Given the description of an element on the screen output the (x, y) to click on. 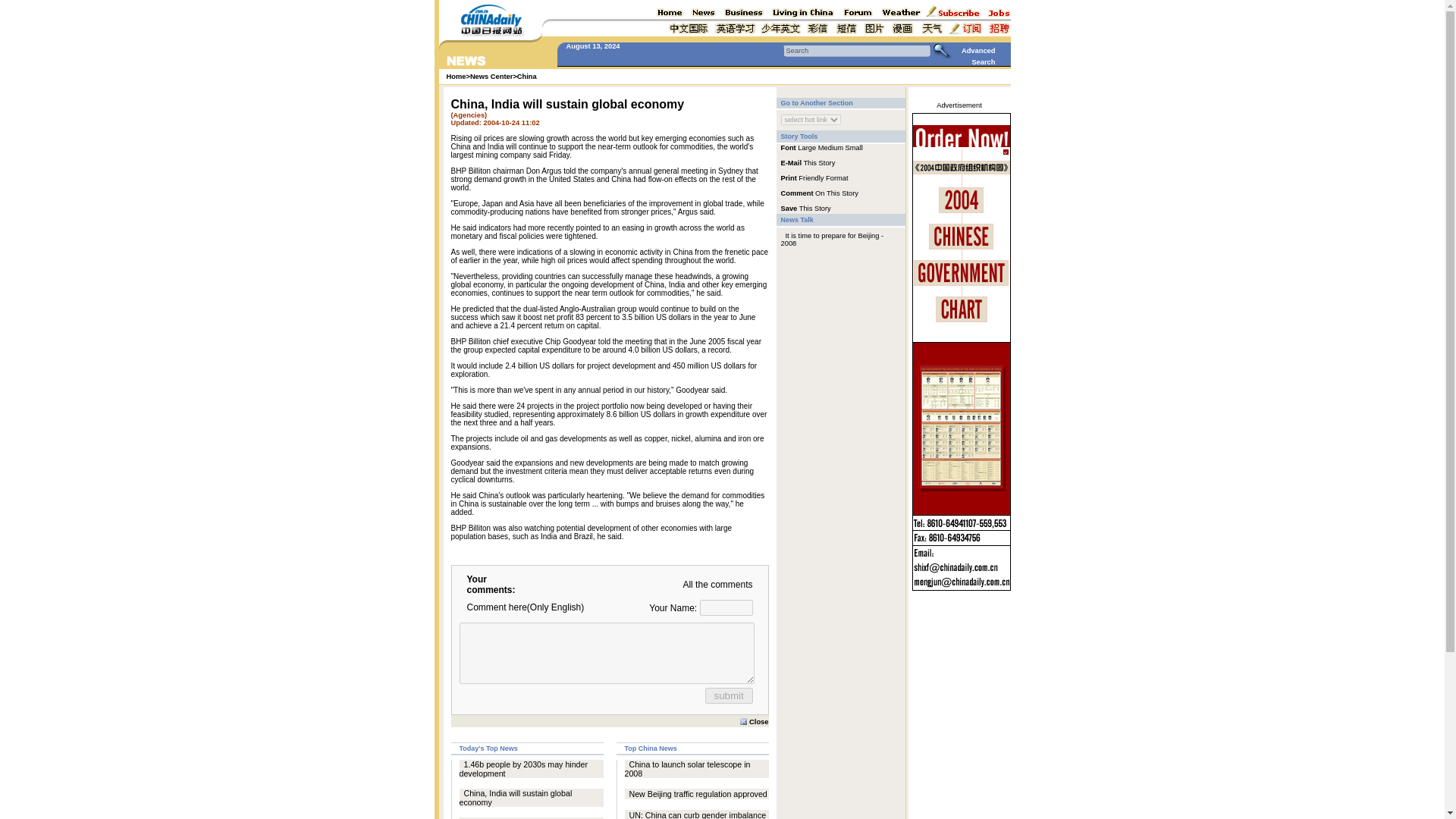
China, India will sustain global economy (516, 797)
New Beijing traffic regulation approved (697, 793)
UN: China can curb gender imbalance (697, 814)
China (526, 76)
Medium (830, 147)
Mother-to-child HIV transmission tackled (520, 818)
China to launch solar telescope in 2008 (687, 769)
Small (854, 147)
Print Friendly Format (814, 176)
 submit  (728, 694)
